Given the description of an element on the screen output the (x, y) to click on. 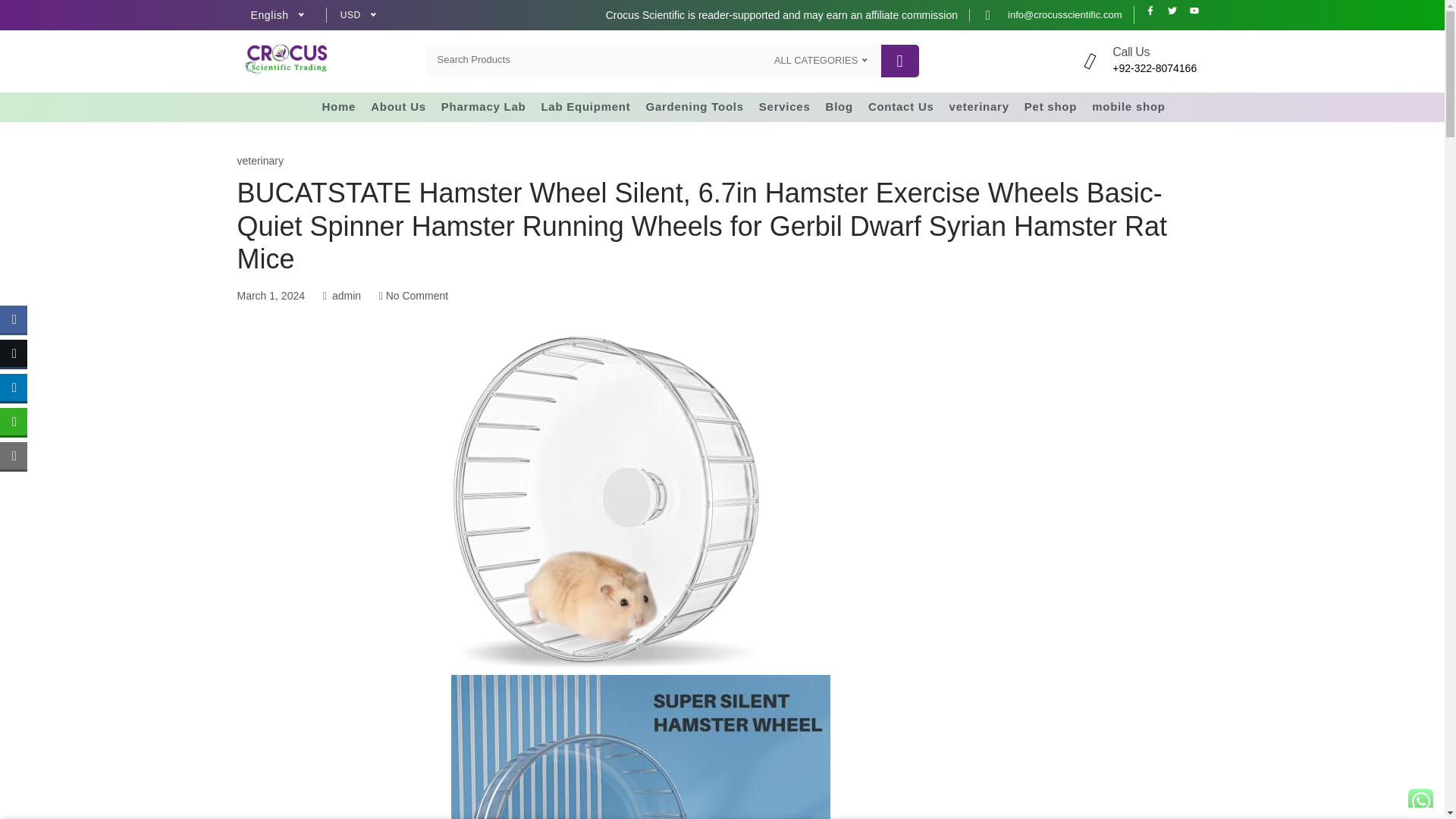
Posts by admin (346, 295)
Call Us (1131, 51)
